Given the description of an element on the screen output the (x, y) to click on. 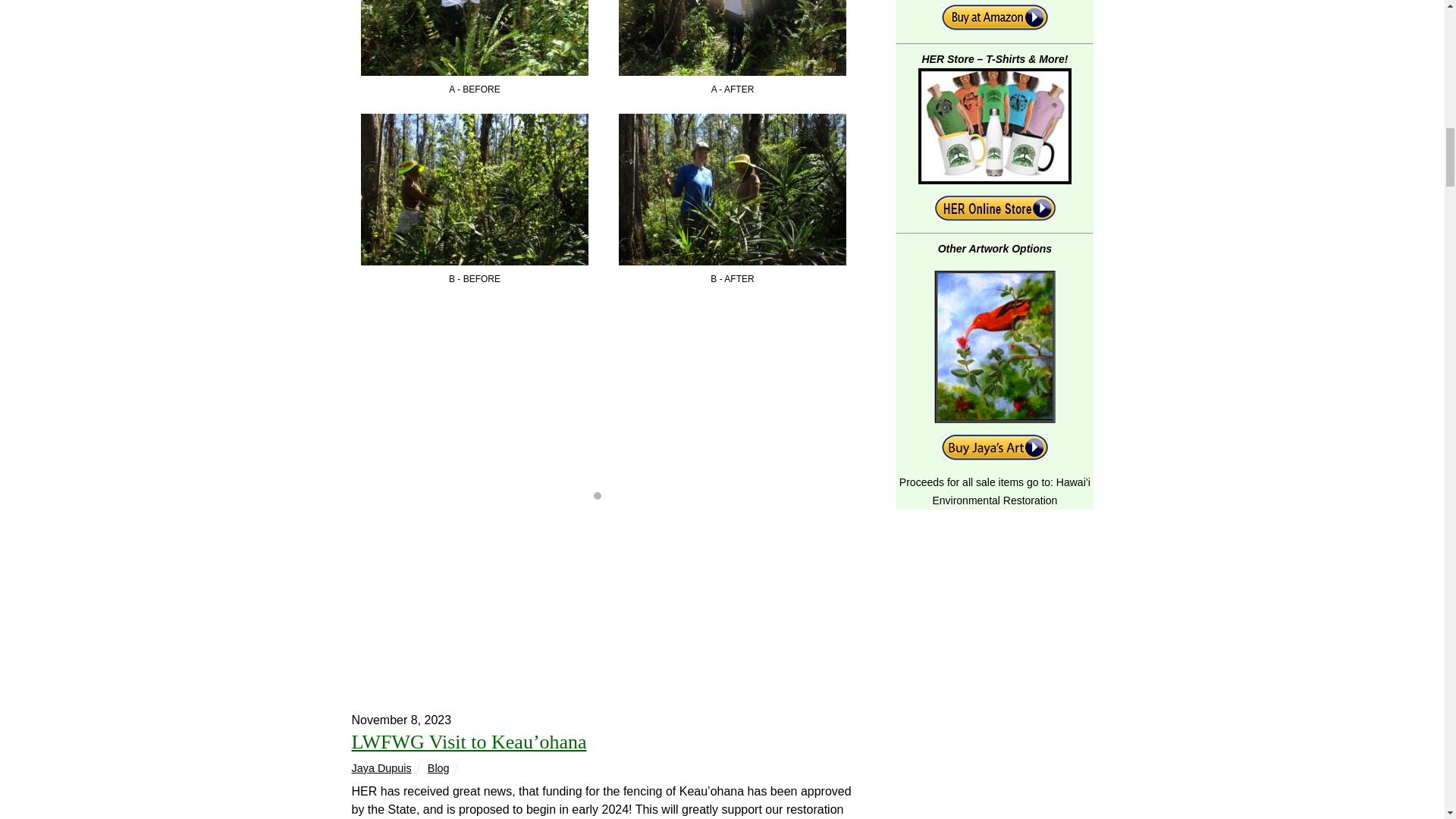
B - AFTER (731, 122)
2B. After (731, 189)
2A. Before (474, 189)
1B. After (731, 38)
B - BEFORE (474, 122)
